Given the description of an element on the screen output the (x, y) to click on. 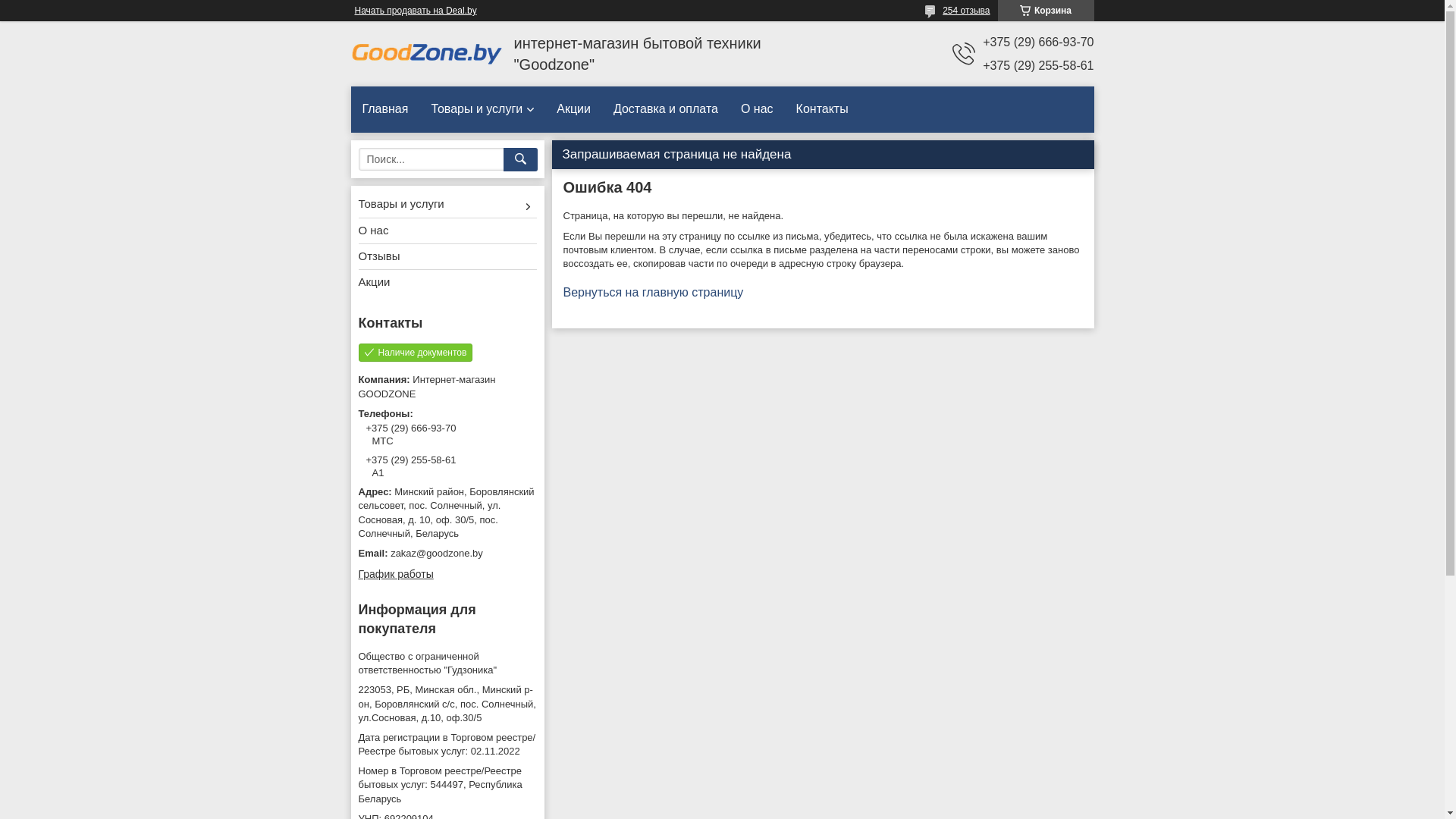
zakaz@goodzone.by Element type: text (446, 553)
